Given the description of an element on the screen output the (x, y) to click on. 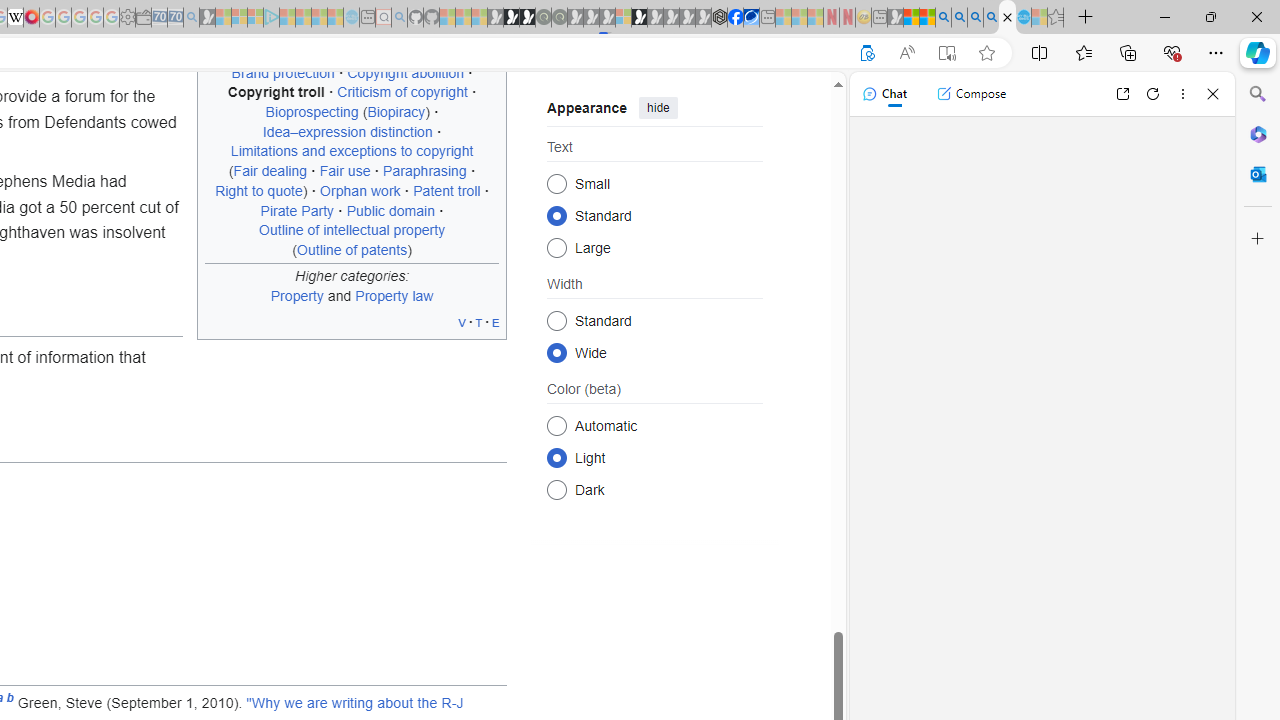
Bing AI - Search (943, 17)
Compose (971, 93)
Light (556, 457)
Microsoft account | Privacy - Sleeping (255, 17)
Microsoft Start Gaming - Sleeping (207, 17)
github - Search - Sleeping (399, 17)
Fair use (344, 171)
Nordace - Cooler Bags (719, 17)
MediaWiki (31, 17)
Brand protection (282, 72)
